Given the description of an element on the screen output the (x, y) to click on. 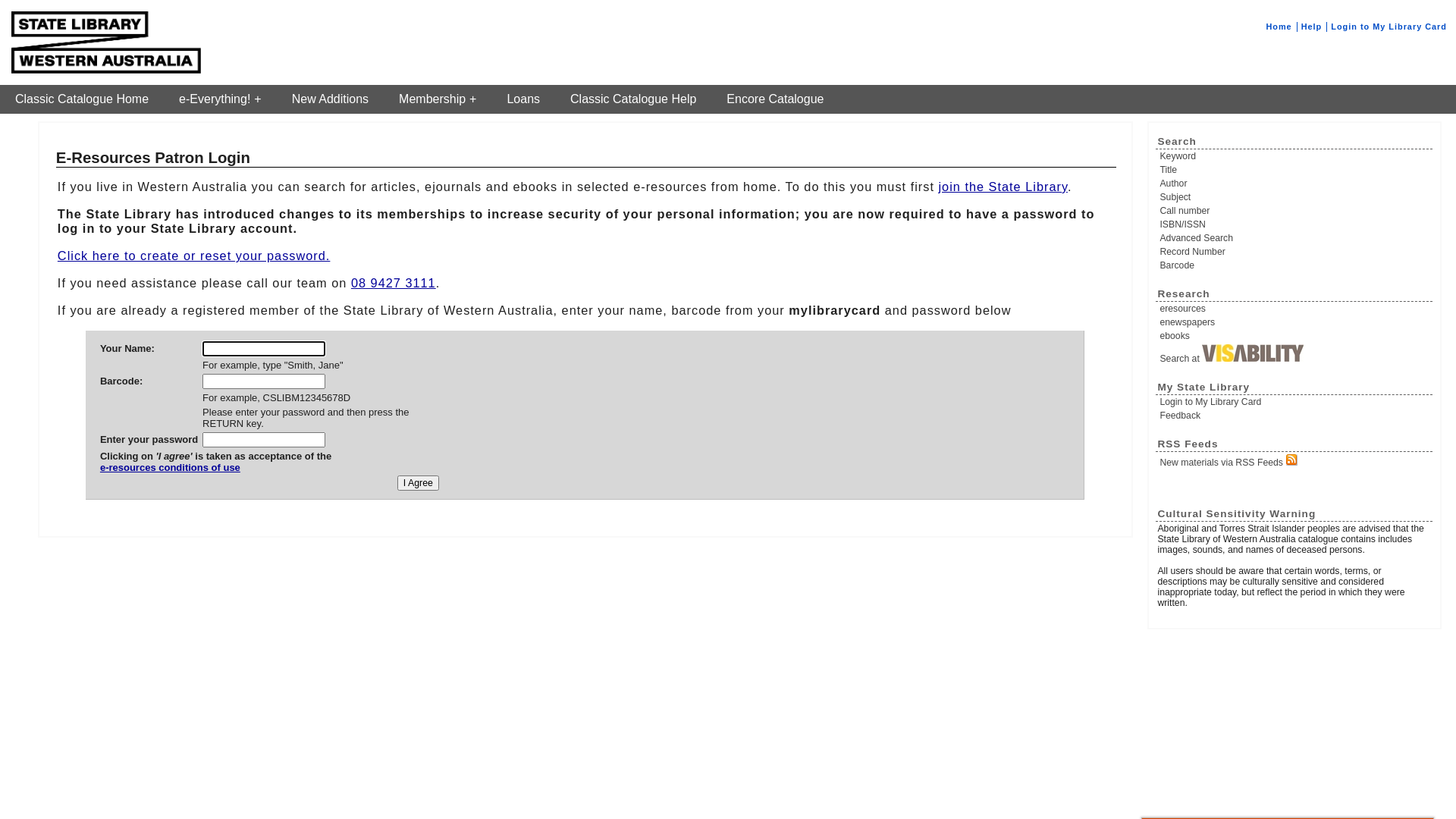
Barcode Element type: text (1294, 265)
I Agree Element type: text (418, 482)
e-resources conditions of use Element type: text (215, 472)
eresources Element type: text (1294, 308)
Keyword Element type: text (1294, 155)
ISBN/ISSN Element type: text (1294, 224)
join the State Library Element type: text (1002, 186)
New Additions Element type: text (329, 98)
New materials via RSS Feeds Element type: text (1294, 460)
Subject Element type: text (1294, 196)
Feedback Element type: text (1294, 415)
e-Everything! Element type: text (219, 98)
Search at Element type: text (1294, 354)
Call number Element type: text (1294, 210)
Login to My Library Card Element type: text (1294, 401)
enewspapers Element type: text (1294, 321)
Loans Element type: text (523, 98)
08 9427 3111 Element type: text (393, 282)
Click here to create or reset your password. Element type: text (193, 255)
Home Element type: text (1278, 26)
Classic Catalogue Help Element type: text (633, 98)
Login to My Library Card Element type: text (1388, 26)
Classic Catalogue Home Element type: text (81, 98)
Encore Catalogue Element type: text (774, 98)
Advanced Search Element type: text (1294, 237)
Record Number Element type: text (1294, 251)
ebooks Element type: text (1294, 335)
Membership Element type: text (437, 98)
Help Element type: text (1311, 26)
Author Element type: text (1294, 183)
Title Element type: text (1294, 169)
